Given the description of an element on the screen output the (x, y) to click on. 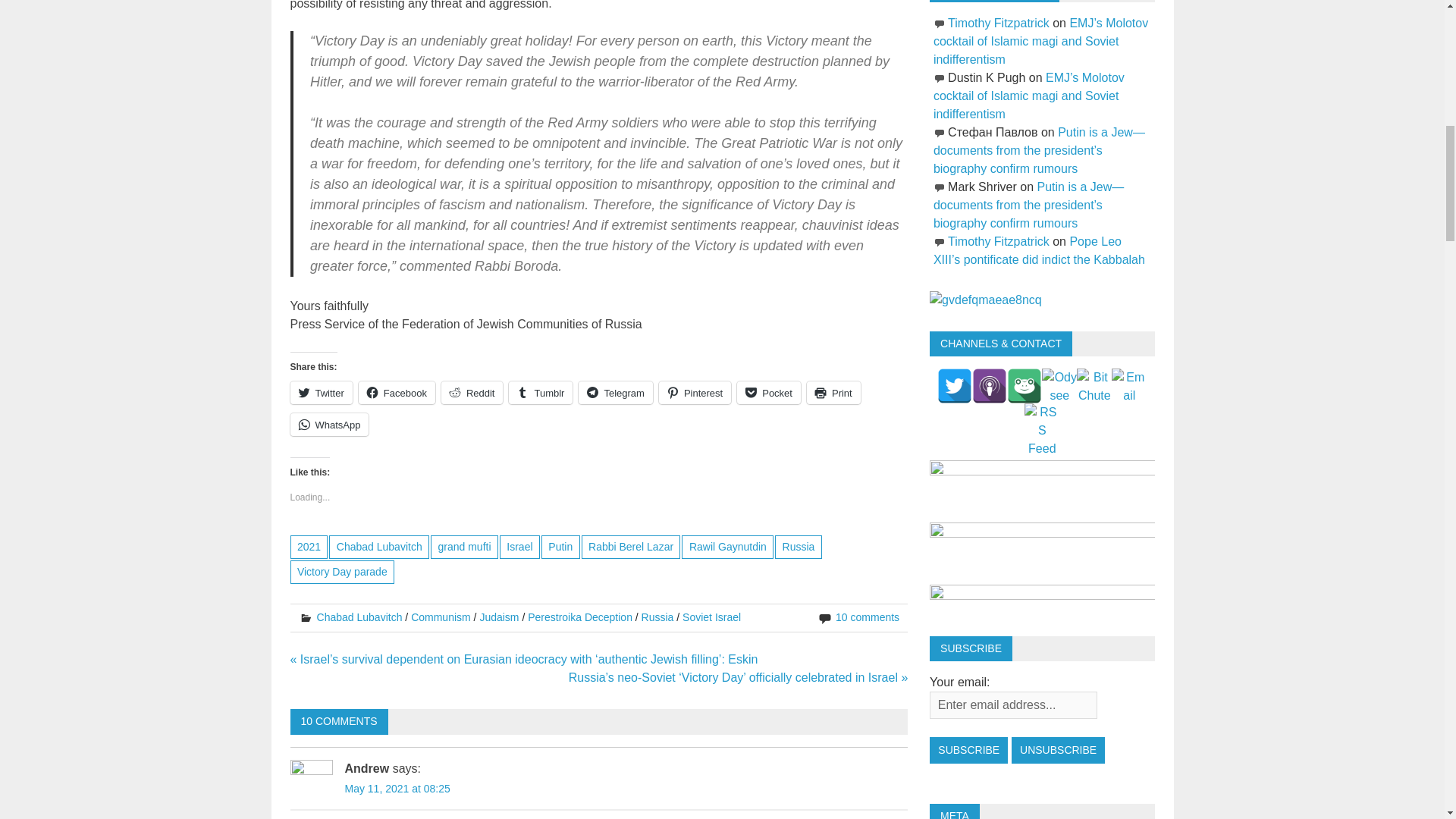
Click to share on Pinterest (694, 392)
Click to share on Tumblr (540, 392)
Click to print (833, 392)
Enter email address... (1013, 705)
Click to share on Twitter (320, 392)
Click to share on WhatsApp (328, 424)
Click to share on Reddit (472, 392)
Click to share on Pocket (768, 392)
Click to share on Facebook (396, 392)
Unsubscribe (1058, 750)
